Given the description of an element on the screen output the (x, y) to click on. 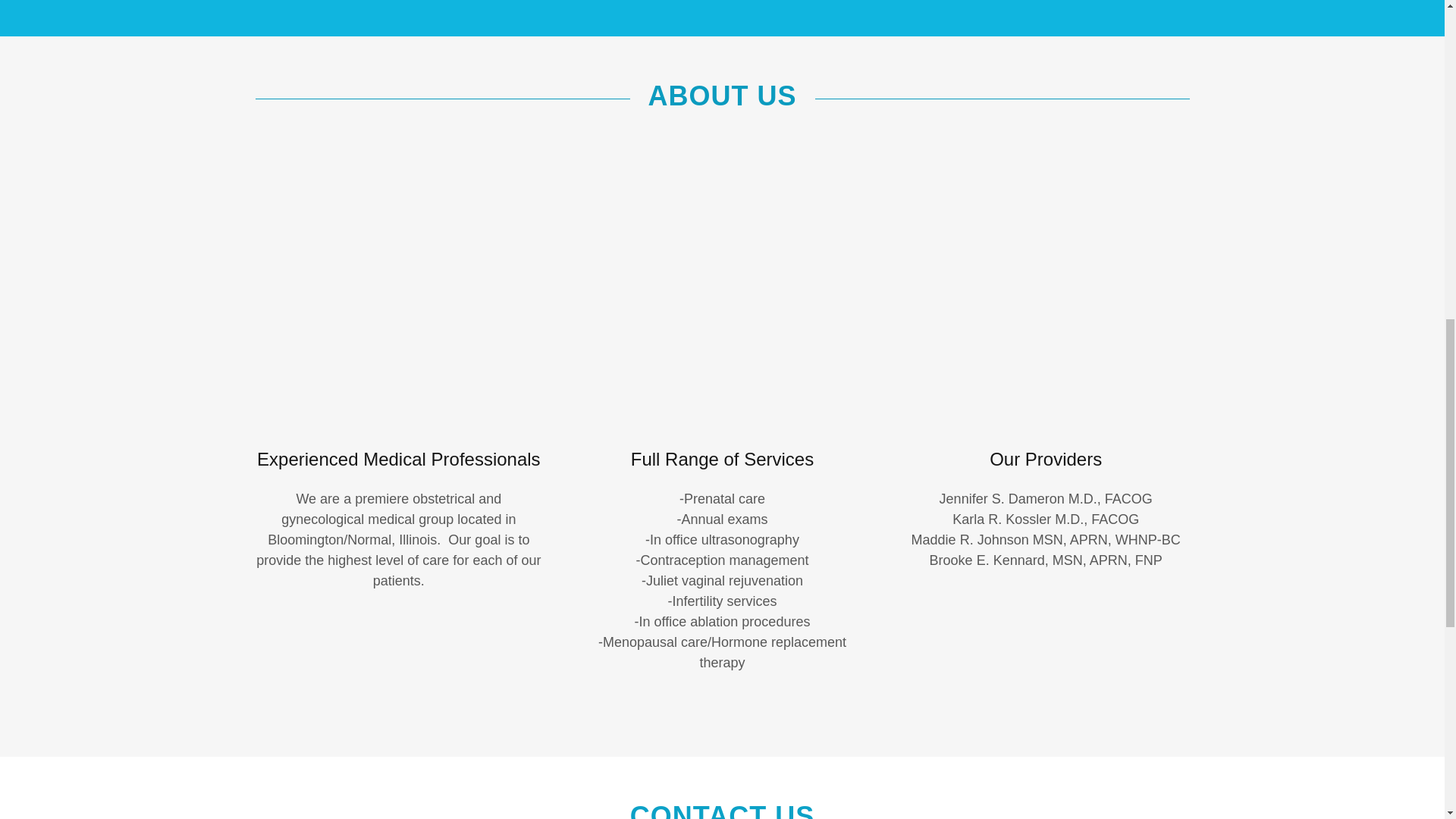
Accept (1274, 324)
